Given the description of an element on the screen output the (x, y) to click on. 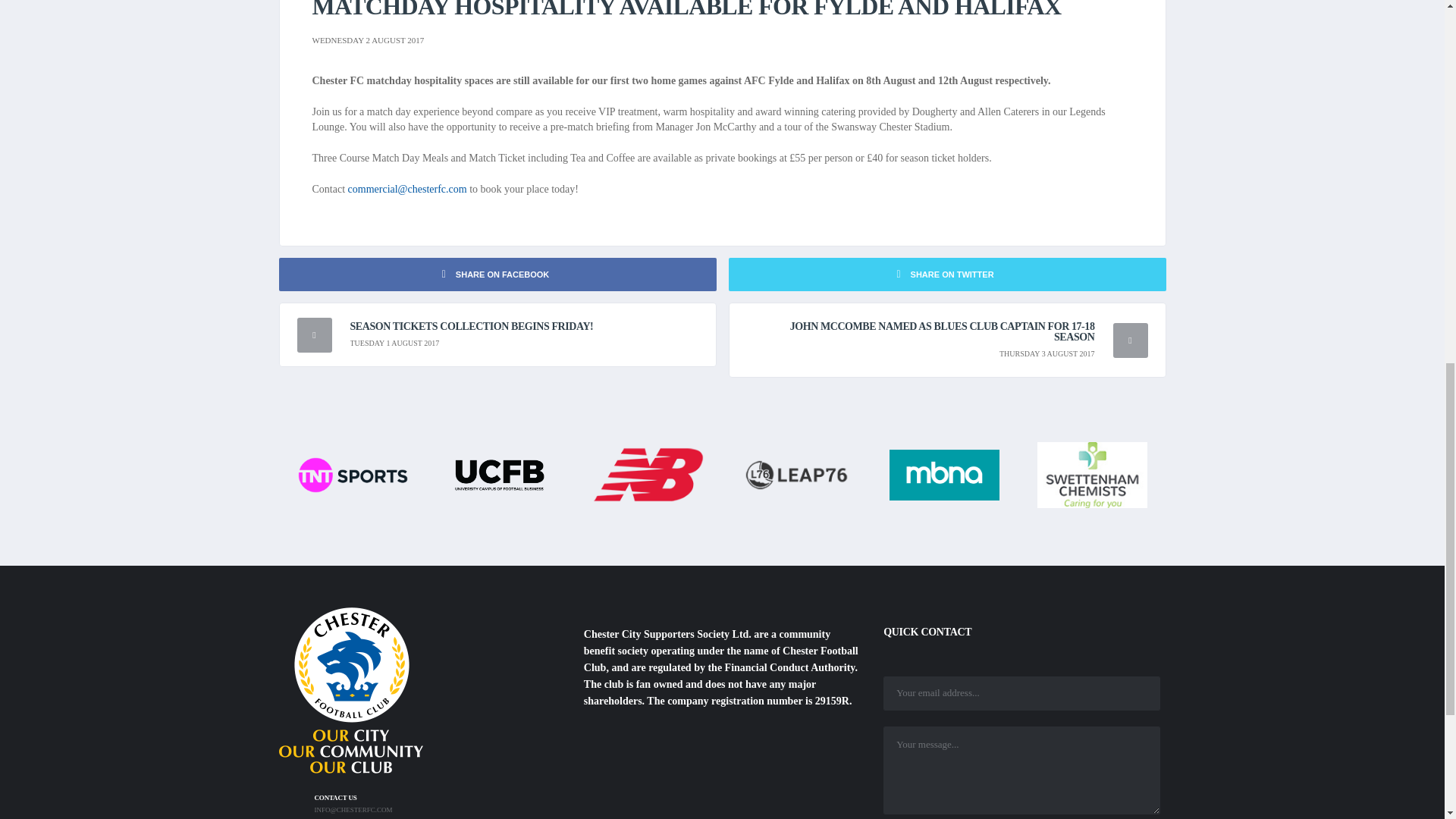
UCFB Logo (500, 473)
